Given the description of an element on the screen output the (x, y) to click on. 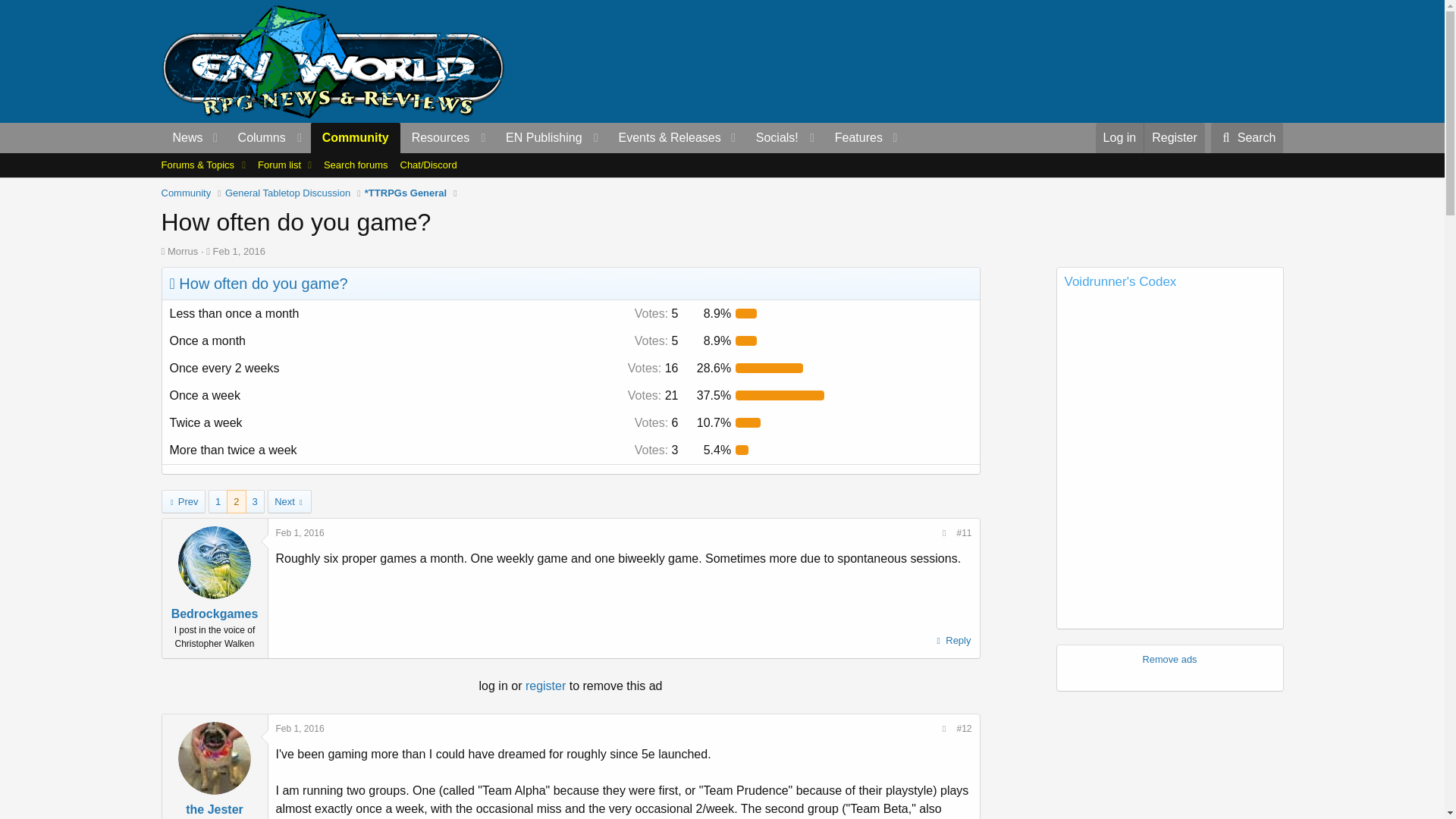
Feb 1, 2016 at 6:00 PM (300, 728)
Feb 1, 2016 at 2:35 PM (238, 251)
Reply, quoting this message (952, 639)
News (181, 137)
Feb 1, 2016 at 5:40 PM (300, 532)
Columns (269, 137)
Community (355, 137)
3rd party ad content (1006, 61)
Search (1247, 137)
